Given the description of an element on the screen output the (x, y) to click on. 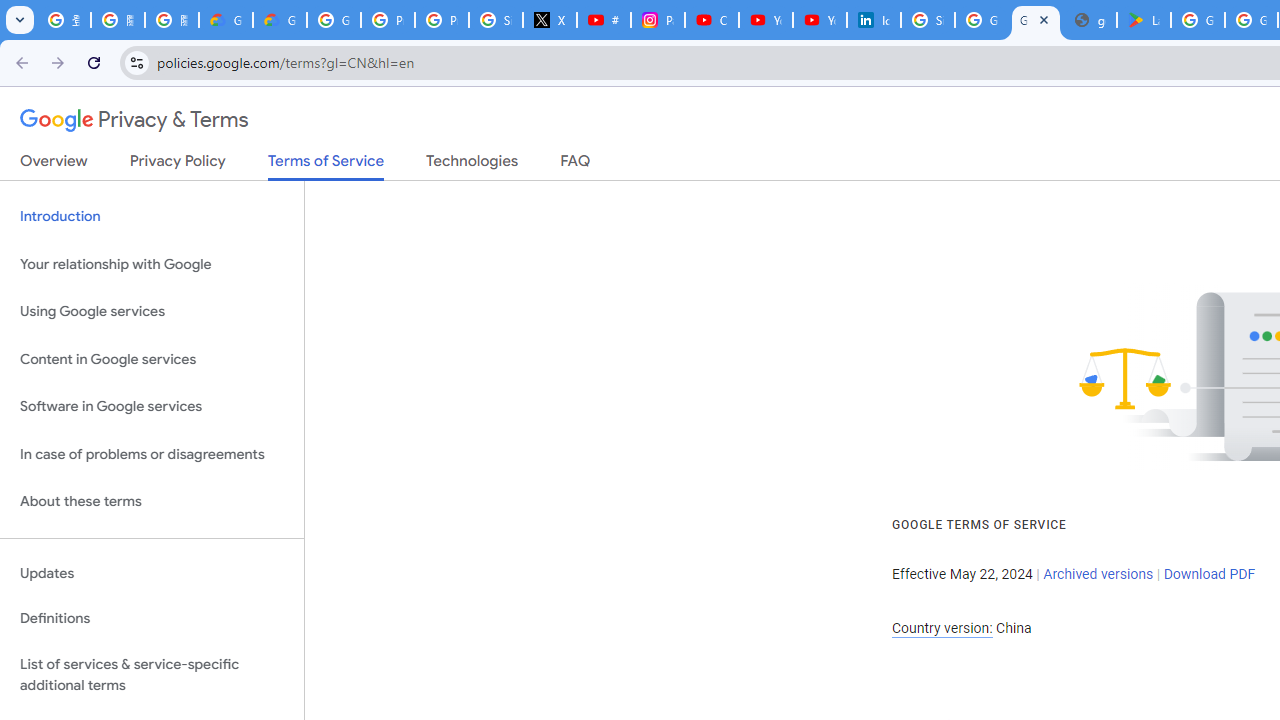
Sign in - Google Accounts (495, 20)
System (10, 11)
Download PDF (1209, 574)
System (10, 11)
Overview (54, 165)
Country version: (942, 628)
About these terms (152, 502)
View site information (136, 62)
Updates (152, 573)
Google Cloud Privacy Notice (225, 20)
Privacy & Terms (134, 120)
Reload (93, 62)
Search tabs (20, 20)
